Given the description of an element on the screen output the (x, y) to click on. 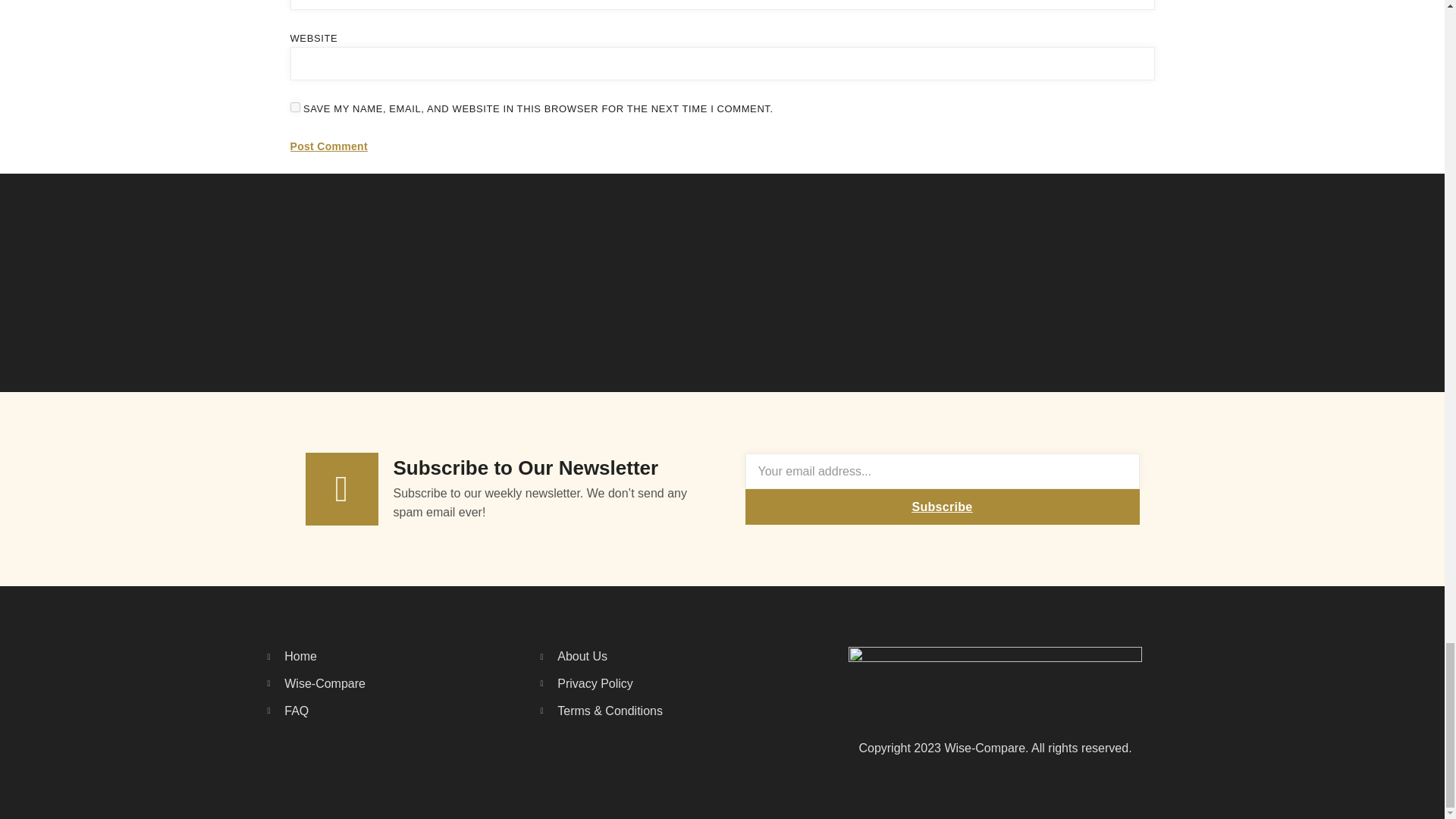
yes (294, 107)
Post Comment (327, 146)
Post Comment (327, 146)
